Given the description of an element on the screen output the (x, y) to click on. 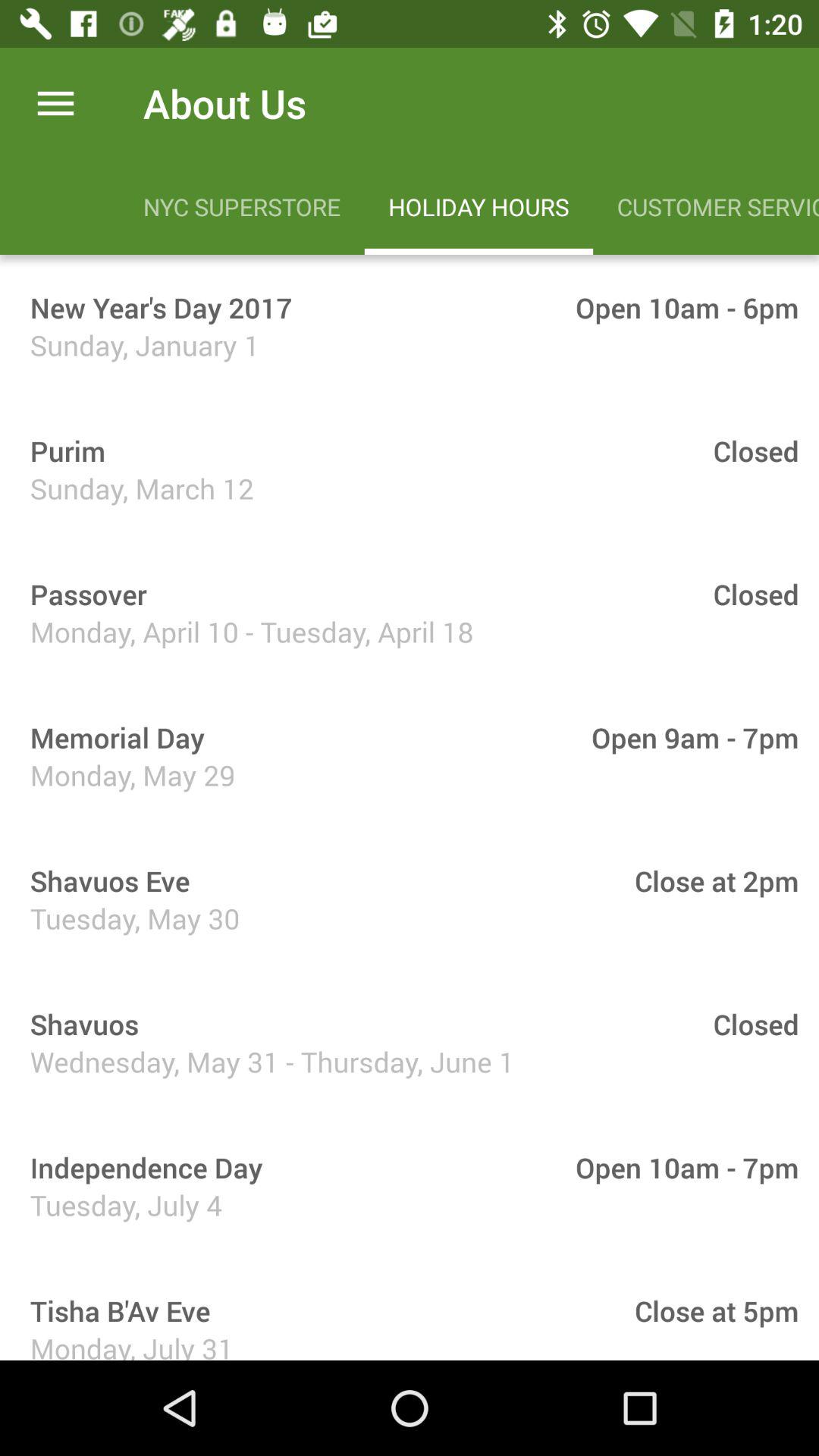
flip to memorial day icon (111, 737)
